Given the description of an element on the screen output the (x, y) to click on. 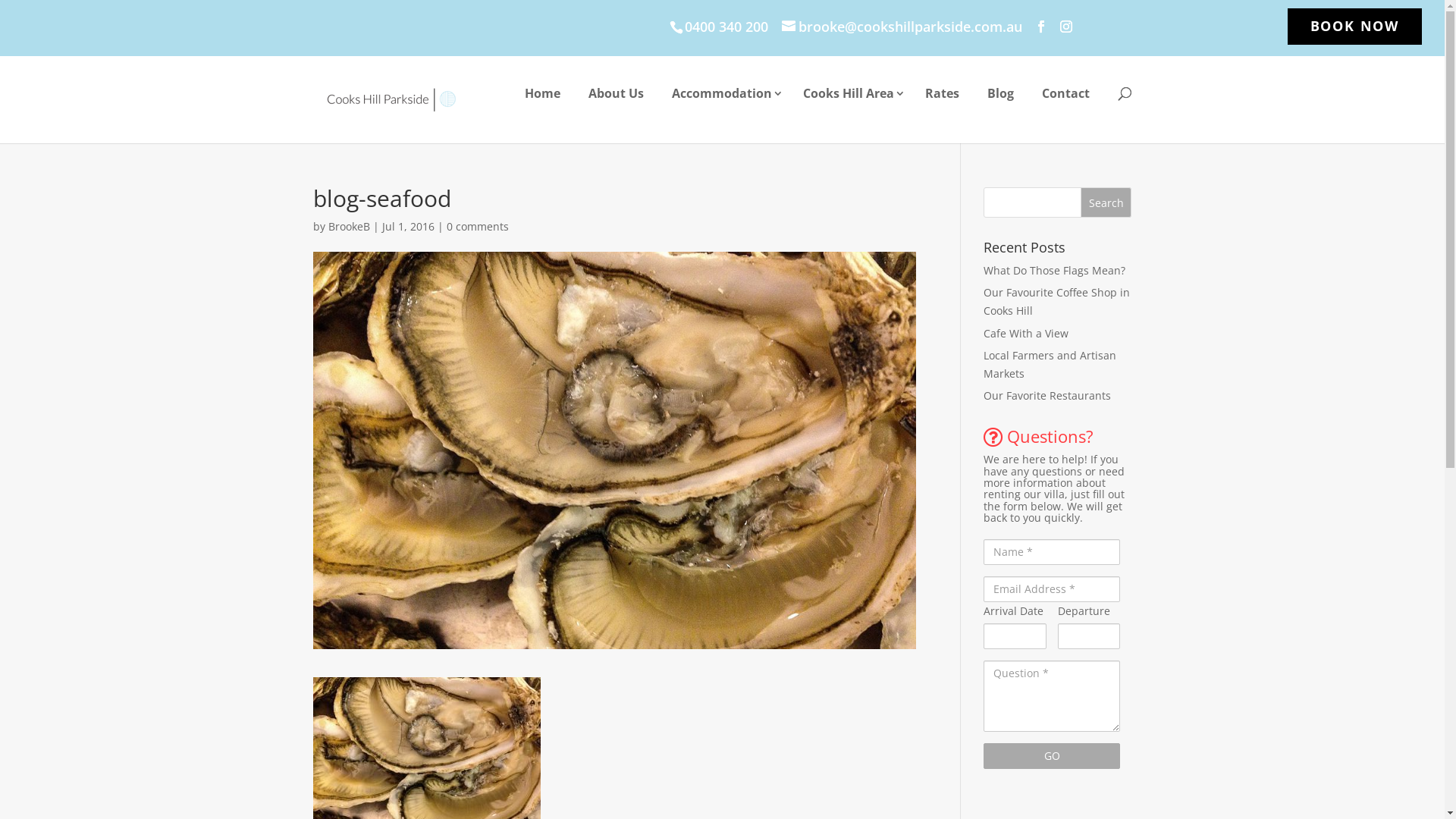
What Do Those Flags Mean? Element type: text (1054, 270)
Rates Element type: text (942, 99)
About Us Element type: text (615, 99)
Blog Element type: text (1000, 99)
Our Favorite Restaurants Element type: text (1046, 395)
Cooks Hill Area Element type: text (849, 99)
Local Farmers and Artisan Markets Element type: text (1049, 364)
Search Element type: text (1106, 202)
Home Element type: text (542, 99)
Contact Element type: text (1065, 99)
Cafe With a View Element type: text (1025, 333)
Accommodation Element type: text (723, 99)
BOOK NOW Element type: text (1354, 30)
0 comments Element type: text (476, 226)
BrookeB Element type: text (348, 226)
GO Element type: text (1051, 755)
Our Favourite Coffee Shop in Cooks Hill Element type: text (1056, 301)
0400 340 200 Element type: text (723, 26)
brooke@cookshillparkside.com.au Element type: text (901, 26)
